Given the description of an element on the screen output the (x, y) to click on. 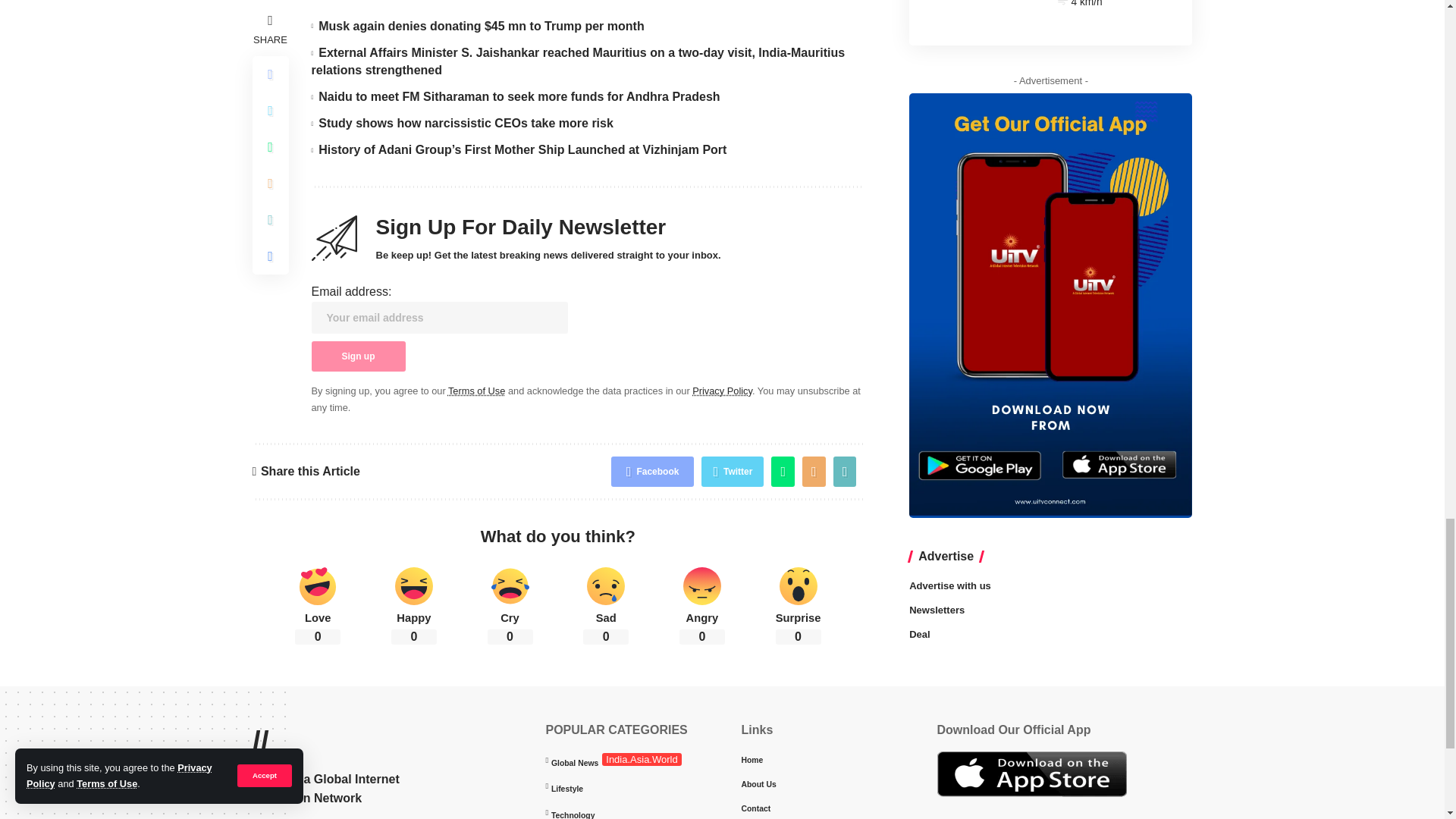
Sign up (357, 356)
